Given the description of an element on the screen output the (x, y) to click on. 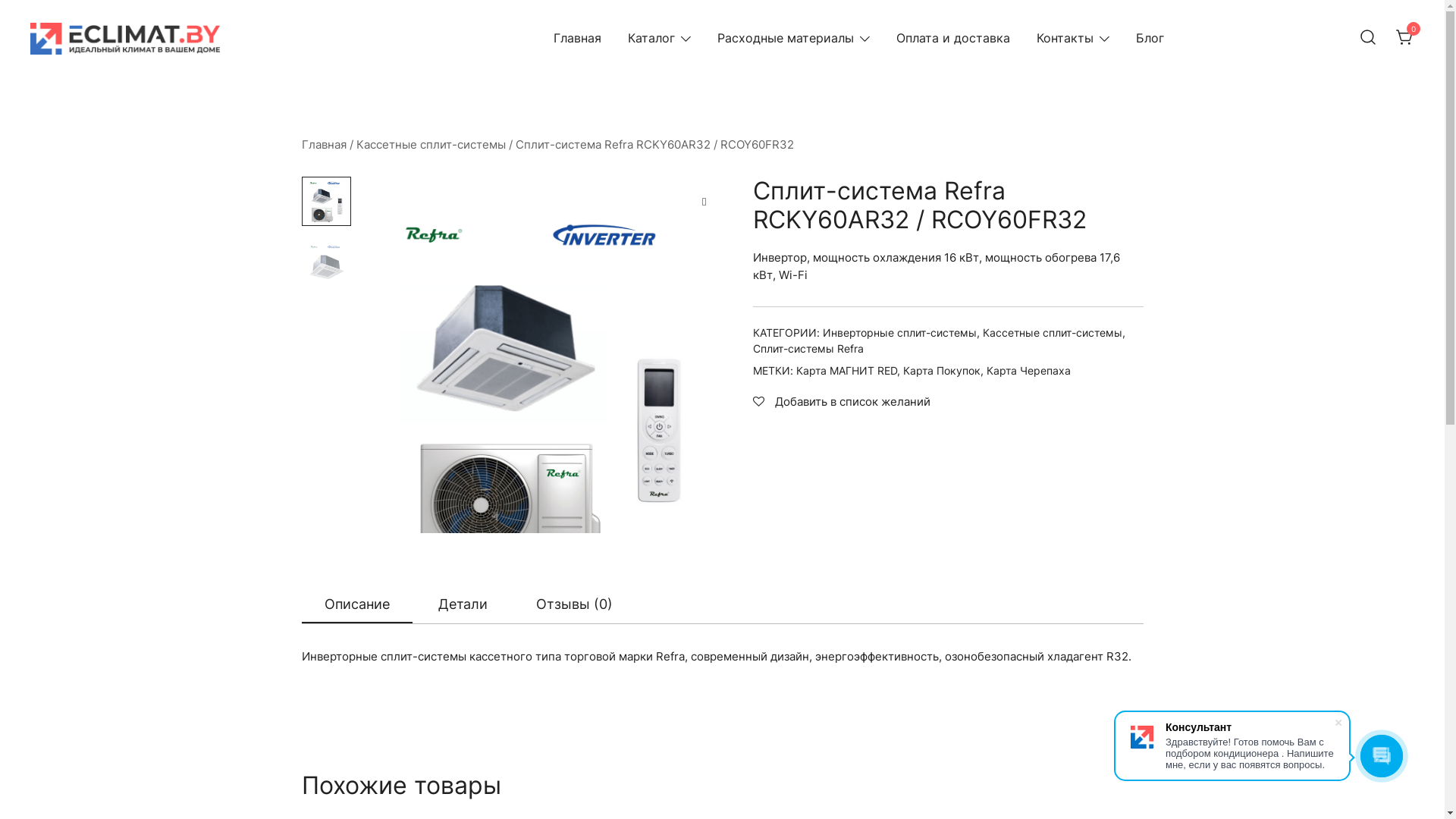
0 Element type: text (1405, 36)
eclimat.by Element type: text (66, 71)
